Given the description of an element on the screen output the (x, y) to click on. 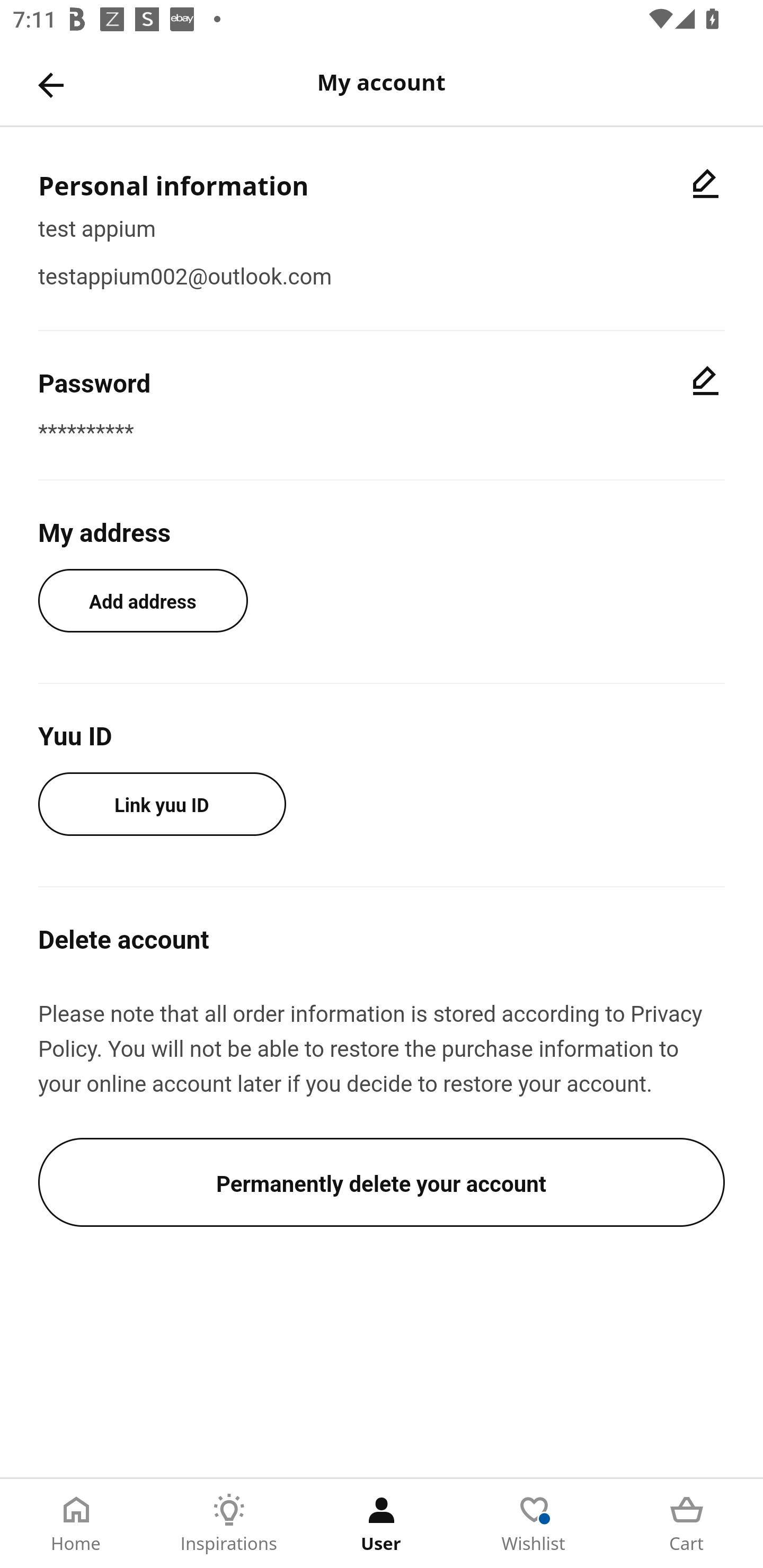
Add address (142, 600)
Link yuu ID (162, 804)
Permanently delete your account (381, 1182)
Home
Tab 1 of 5 (76, 1522)
Inspirations
Tab 2 of 5 (228, 1522)
User
Tab 3 of 5 (381, 1522)
Wishlist
Tab 4 of 5 (533, 1522)
Cart
Tab 5 of 5 (686, 1522)
